Given the description of an element on the screen output the (x, y) to click on. 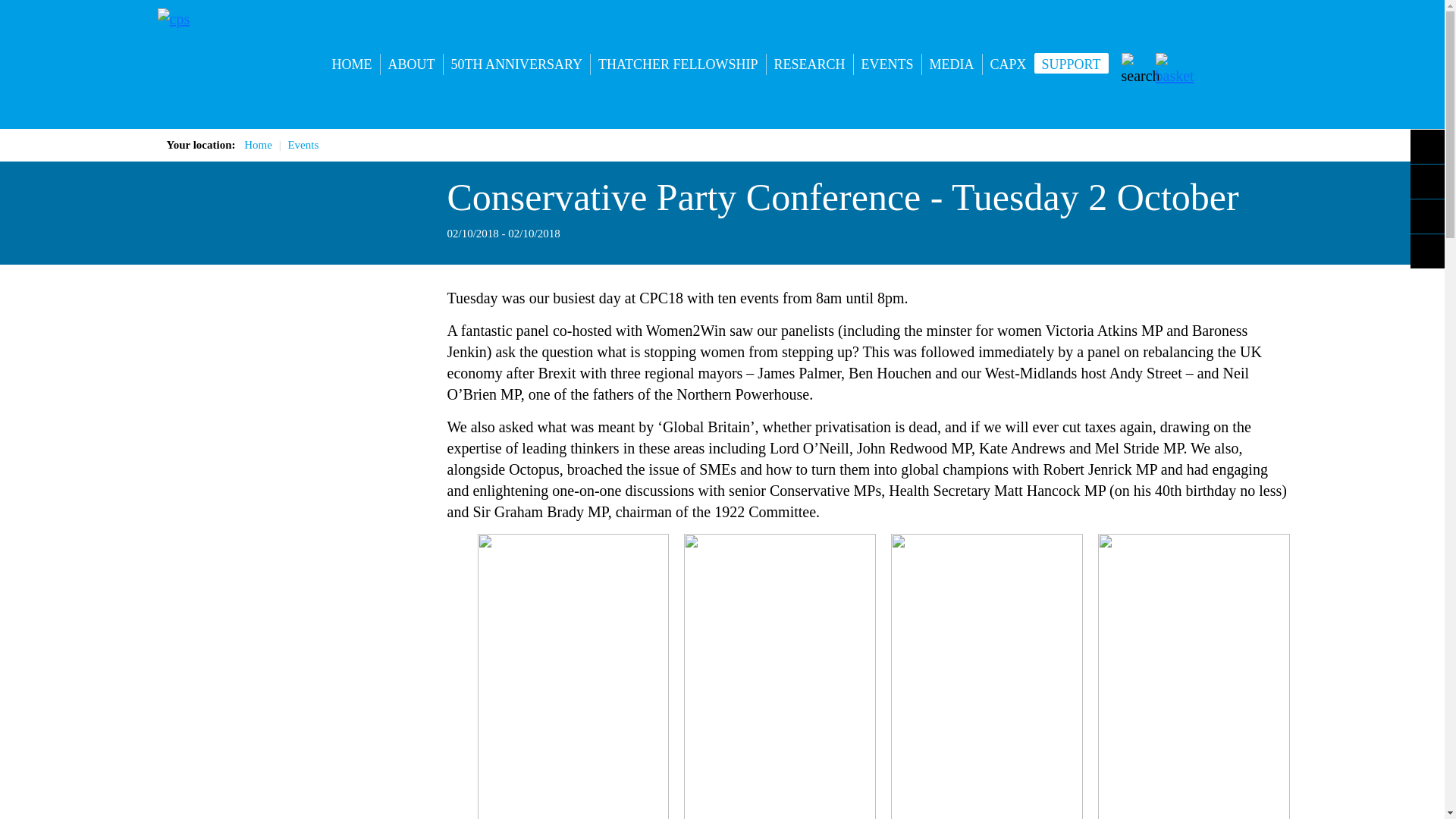
CAPX (1007, 64)
THATCHER FELLOWSHIP (678, 64)
HOME (352, 64)
Events (302, 144)
RESEARCH (810, 64)
50TH ANNIVERSARY (515, 64)
EVENTS (887, 64)
SUPPORT (1070, 63)
Home (258, 144)
ABOUT (411, 64)
MEDIA (951, 64)
